Given the description of an element on the screen output the (x, y) to click on. 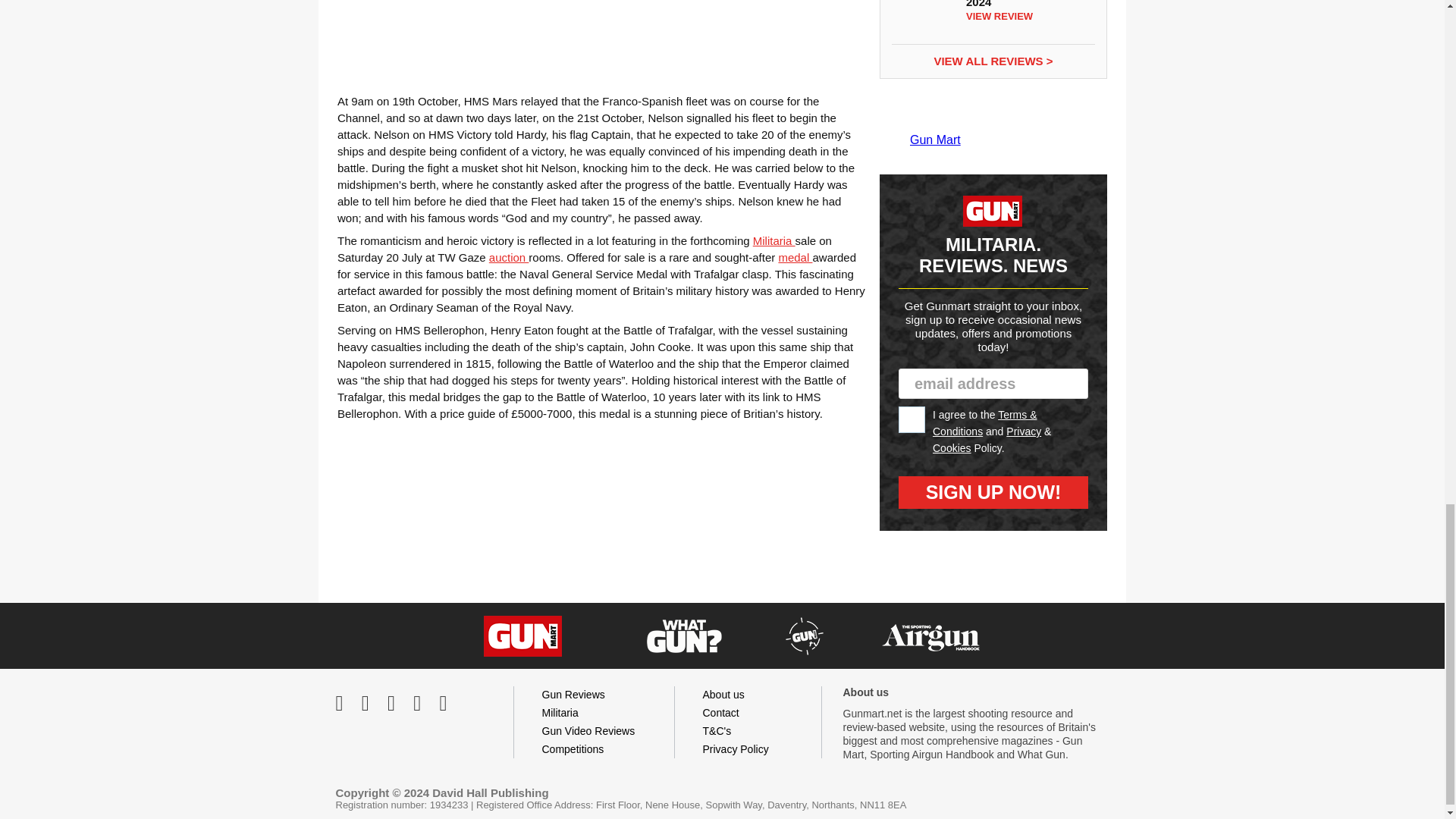
DIARY DATES - July 2024 (921, 16)
true (911, 419)
3rd party ad content (601, 37)
